Given the description of an element on the screen output the (x, y) to click on. 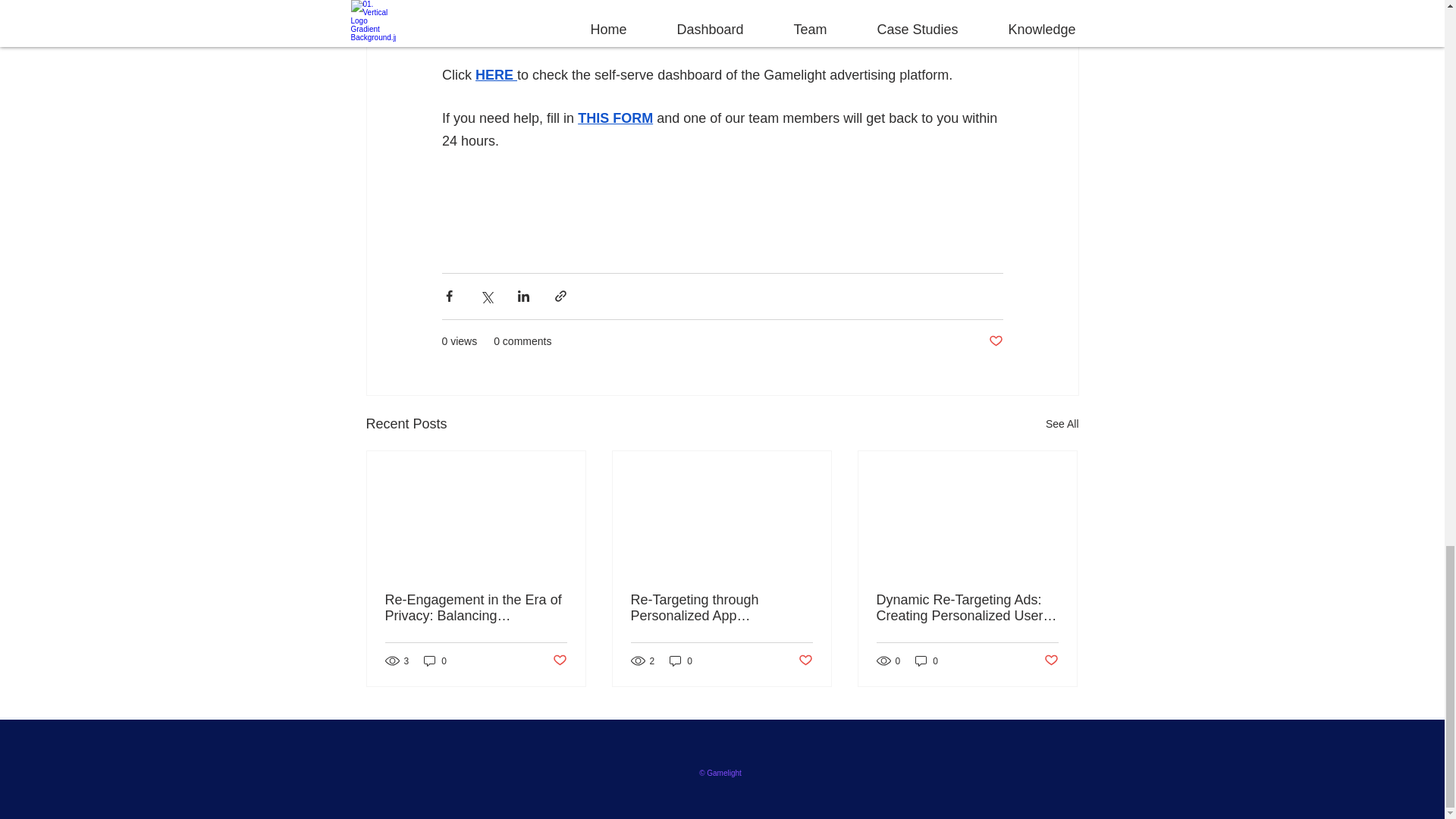
THIS FORM (615, 118)
Post not marked as liked (1050, 660)
0 (681, 660)
Post not marked as liked (558, 660)
HERE (494, 74)
0 (435, 660)
Post not marked as liked (804, 660)
0 (926, 660)
Post not marked as liked (995, 341)
See All (1061, 423)
